Given the description of an element on the screen output the (x, y) to click on. 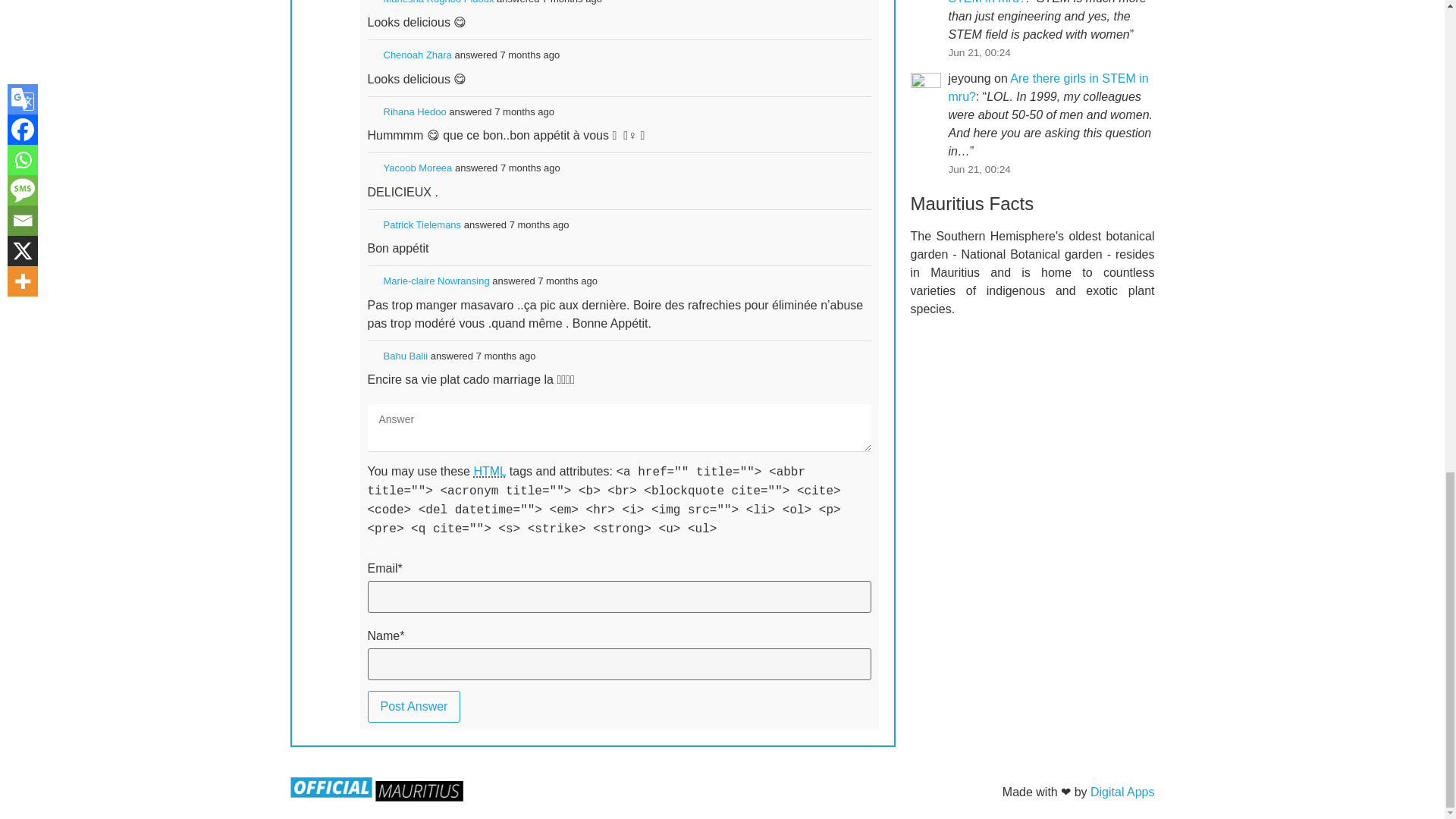
HyperText Markup Language (489, 471)
Post Answer (413, 706)
